Given the description of an element on the screen output the (x, y) to click on. 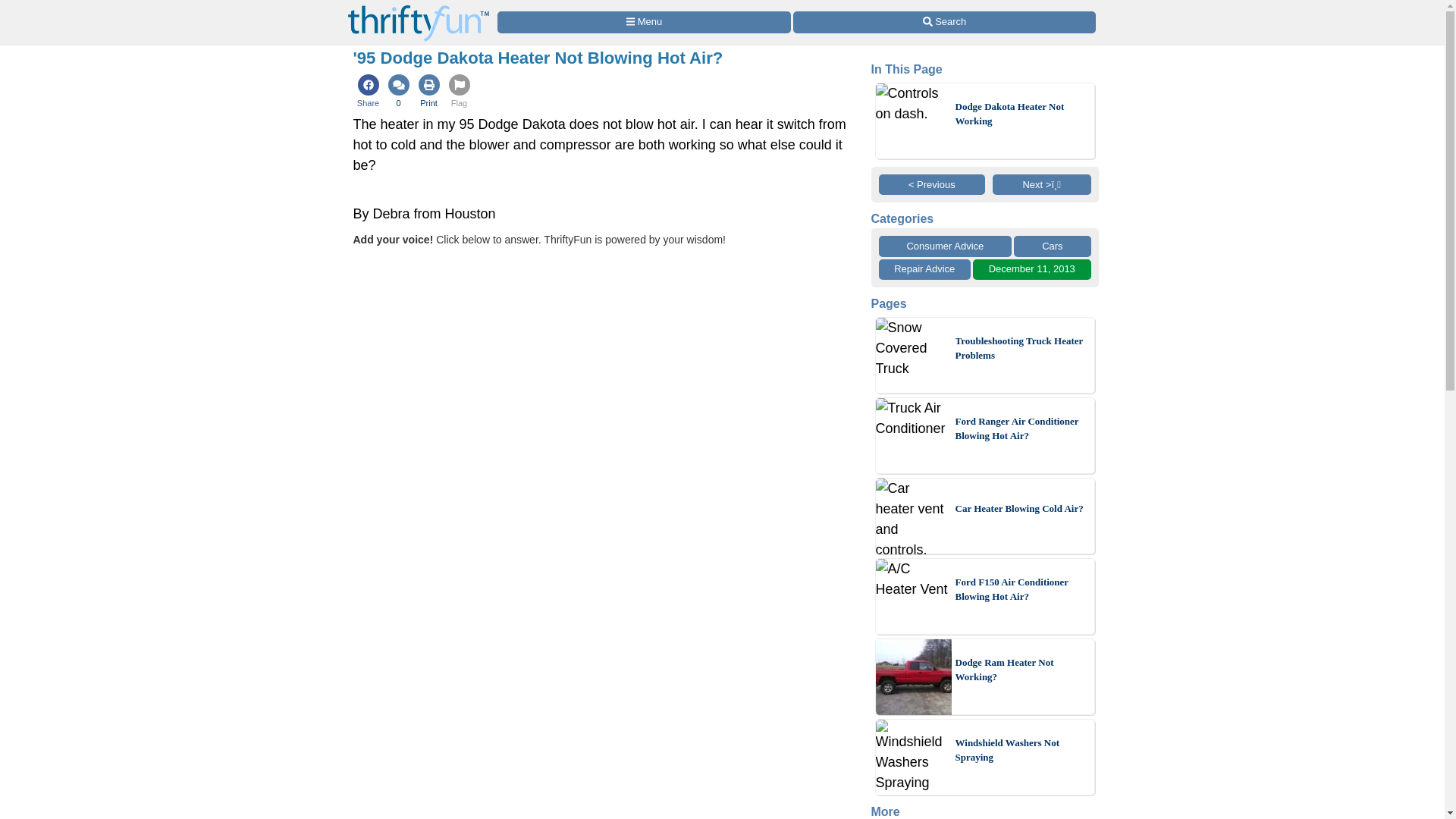
Print (428, 92)
0 (398, 92)
Flag (459, 92)
Share (368, 92)
